Given the description of an element on the screen output the (x, y) to click on. 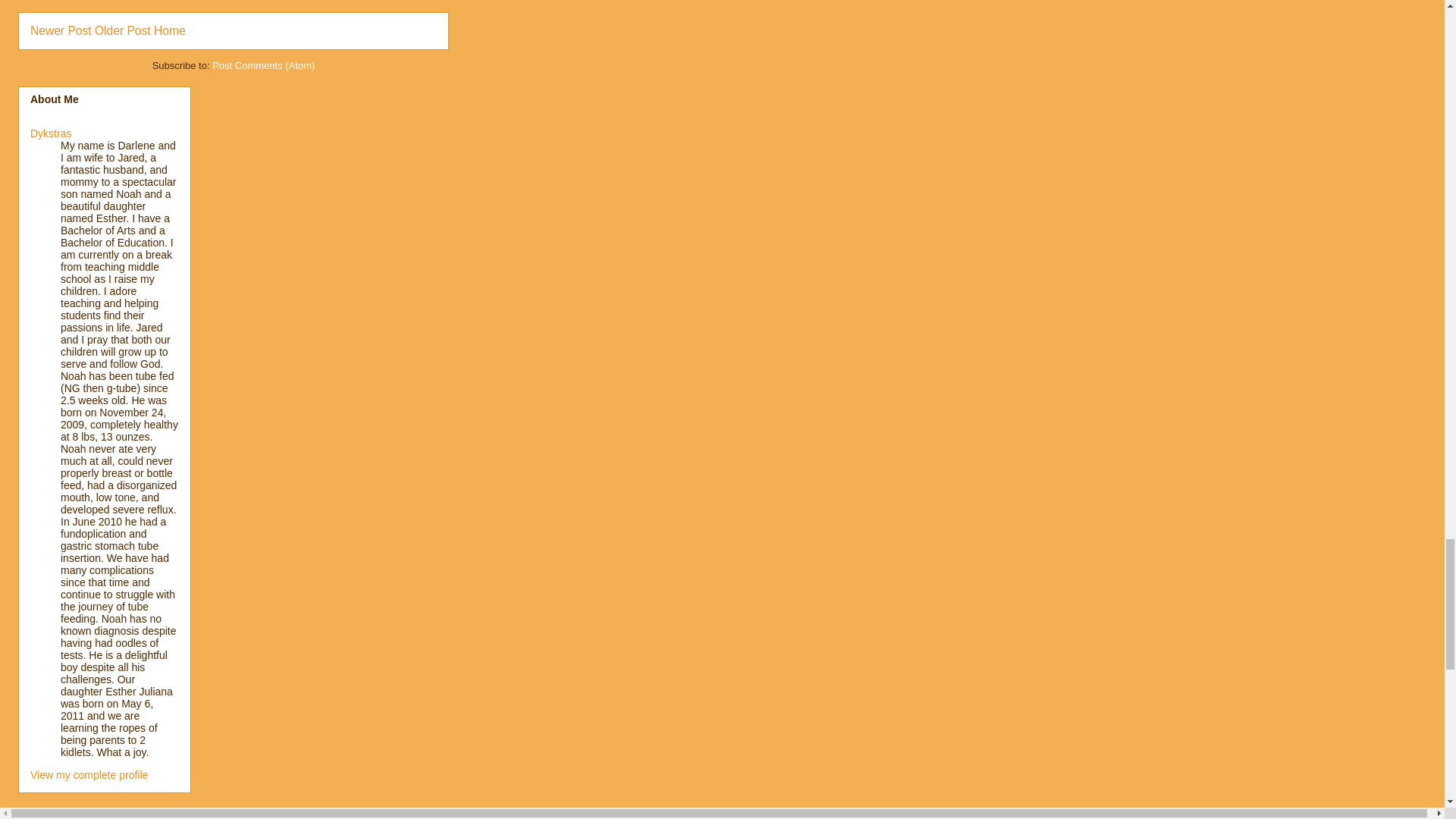
Newer Post (60, 30)
Older Post (122, 30)
Older Post (122, 30)
Dykstras (50, 133)
View my complete profile (89, 775)
Home (170, 30)
Newer Post (60, 30)
